Given the description of an element on the screen output the (x, y) to click on. 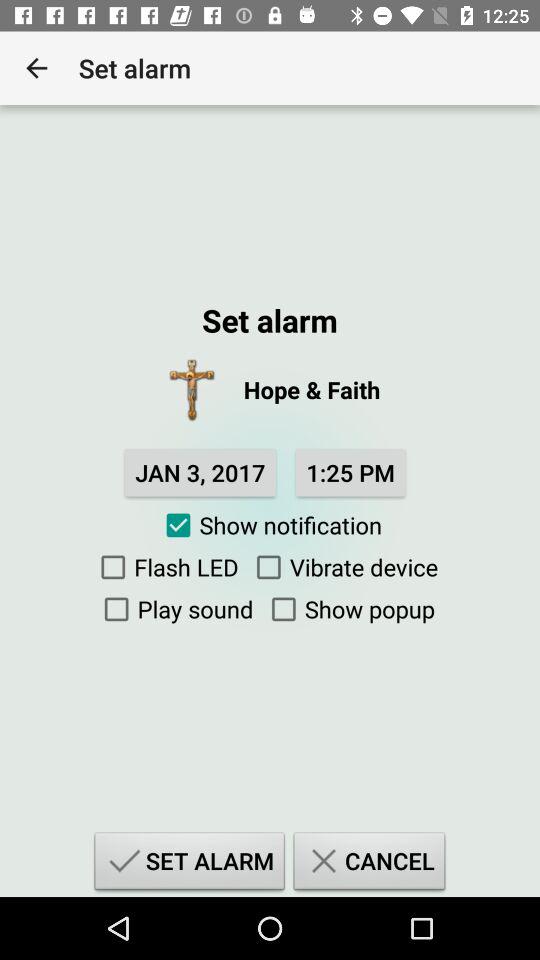
press the vibrate device icon (342, 567)
